Given the description of an element on the screen output the (x, y) to click on. 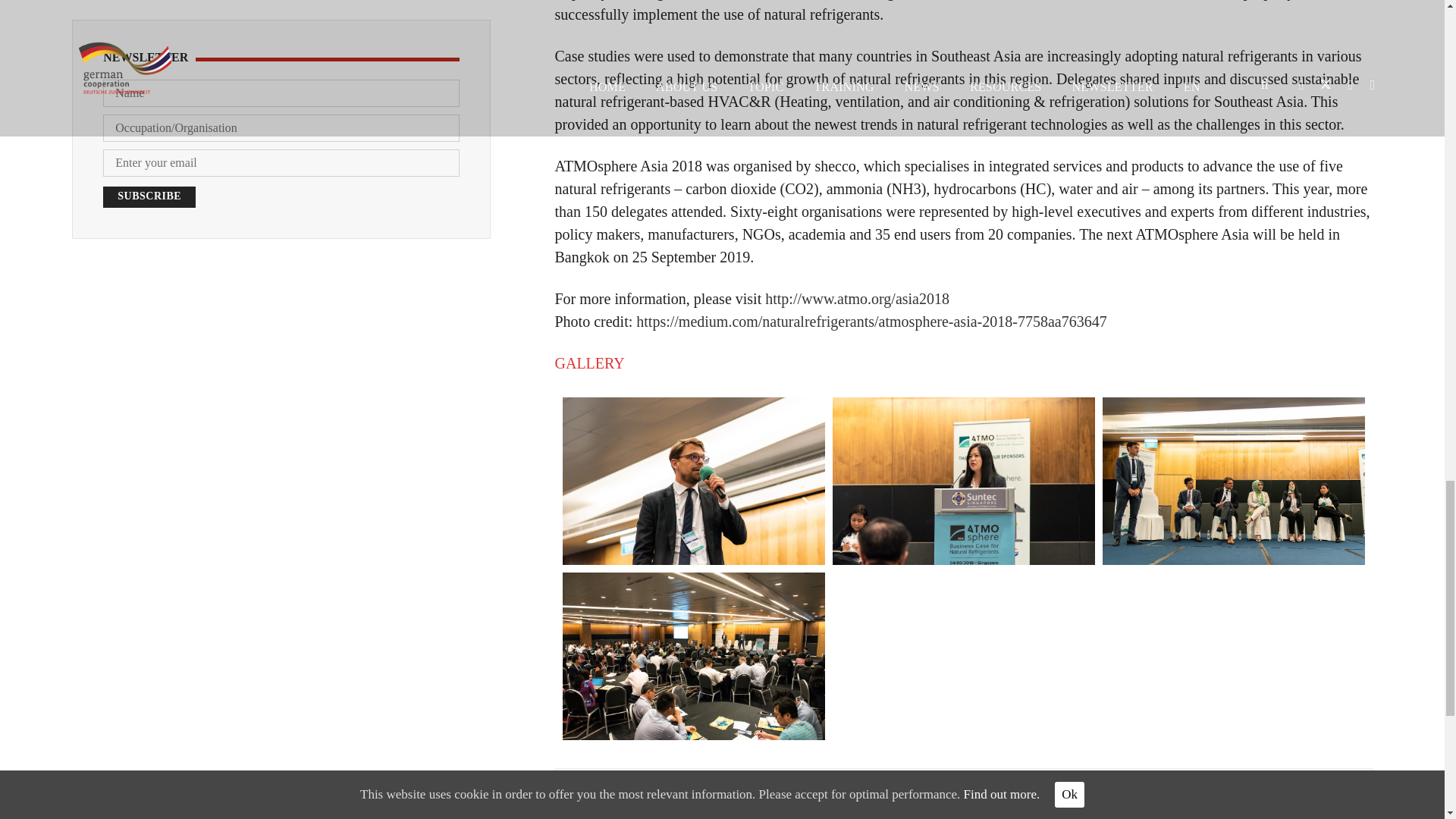
441-2 (963, 481)
441-1 (693, 481)
441-4 (693, 656)
441-3 (1233, 481)
